Given the description of an element on the screen output the (x, y) to click on. 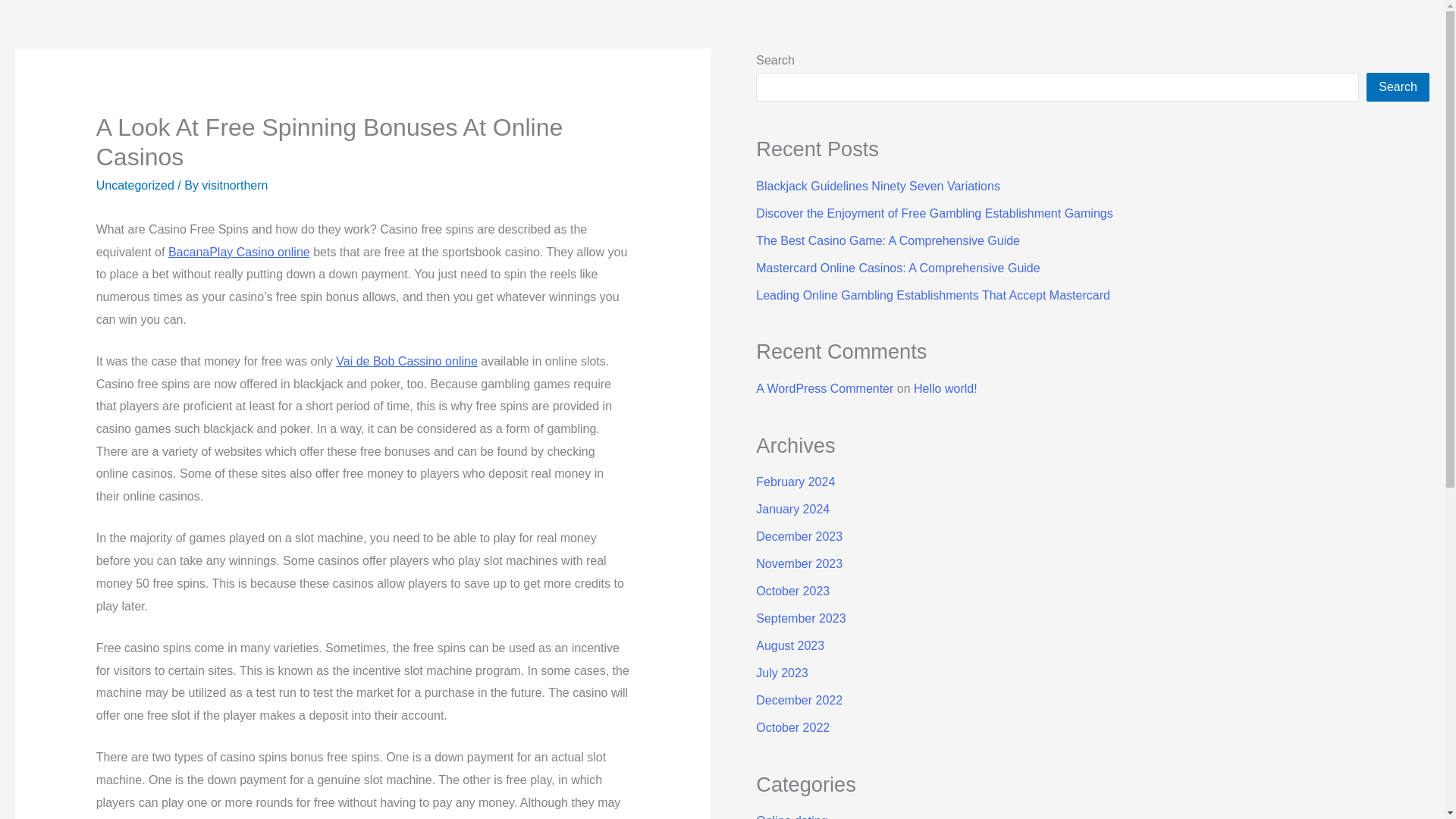
View all posts by visitnorthern (234, 185)
The Best Casino Game: A Comprehensive Guide (887, 240)
September 2023 (800, 617)
November 2023 (799, 563)
A WordPress Commenter (824, 388)
January 2024 (792, 508)
Vai de Bob Cassino online (406, 360)
October 2022 (792, 727)
December 2022 (799, 699)
